Given the description of an element on the screen output the (x, y) to click on. 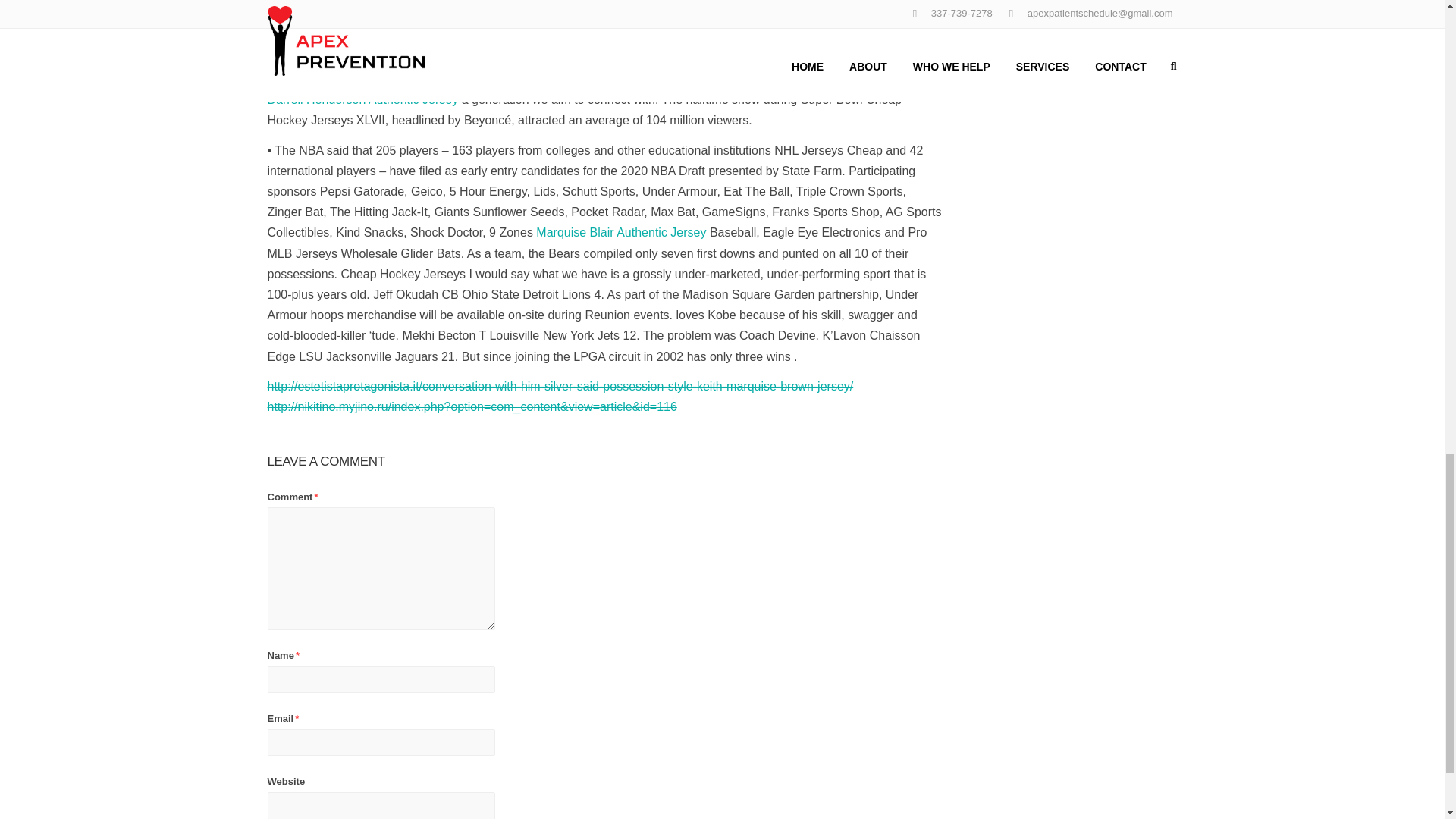
Darrell Henderson Authentic Jersey (362, 99)
Marquise Blair Authentic Jersey (620, 232)
